Given the description of an element on the screen output the (x, y) to click on. 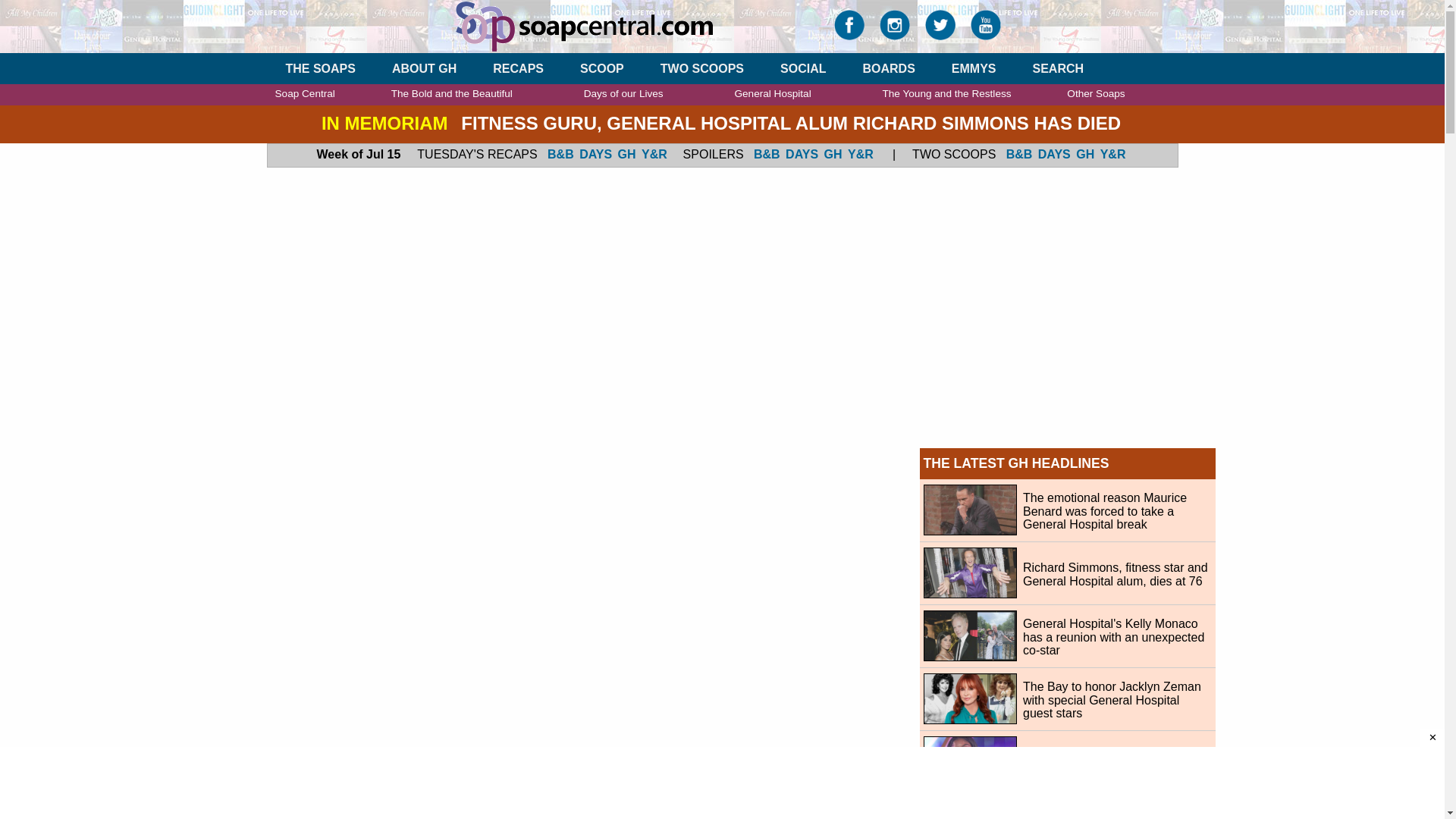
ABOUT GH (424, 68)
YouTube (985, 28)
RECAPS (518, 68)
SCOOP (601, 68)
TWO SCOOPS (702, 68)
Soap Central (631, 25)
Facebook (849, 28)
THE SOAPS (320, 68)
